Given the description of an element on the screen output the (x, y) to click on. 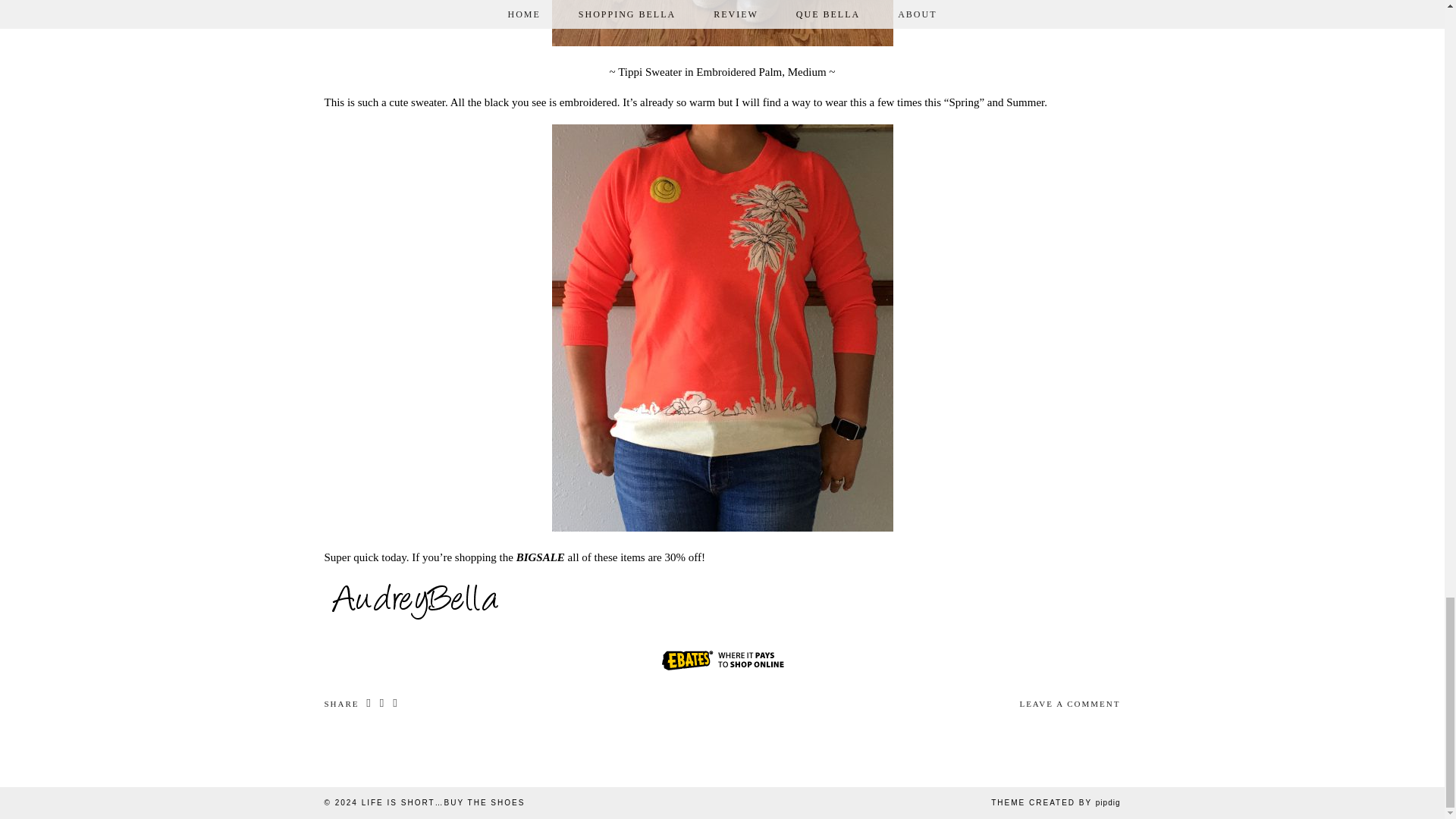
Tippi Sweater in Embroidered Palm (699, 71)
Share on tumblr (394, 703)
Share on Twitter (368, 703)
Share on Pinterest (381, 703)
